Given the description of an element on the screen output the (x, y) to click on. 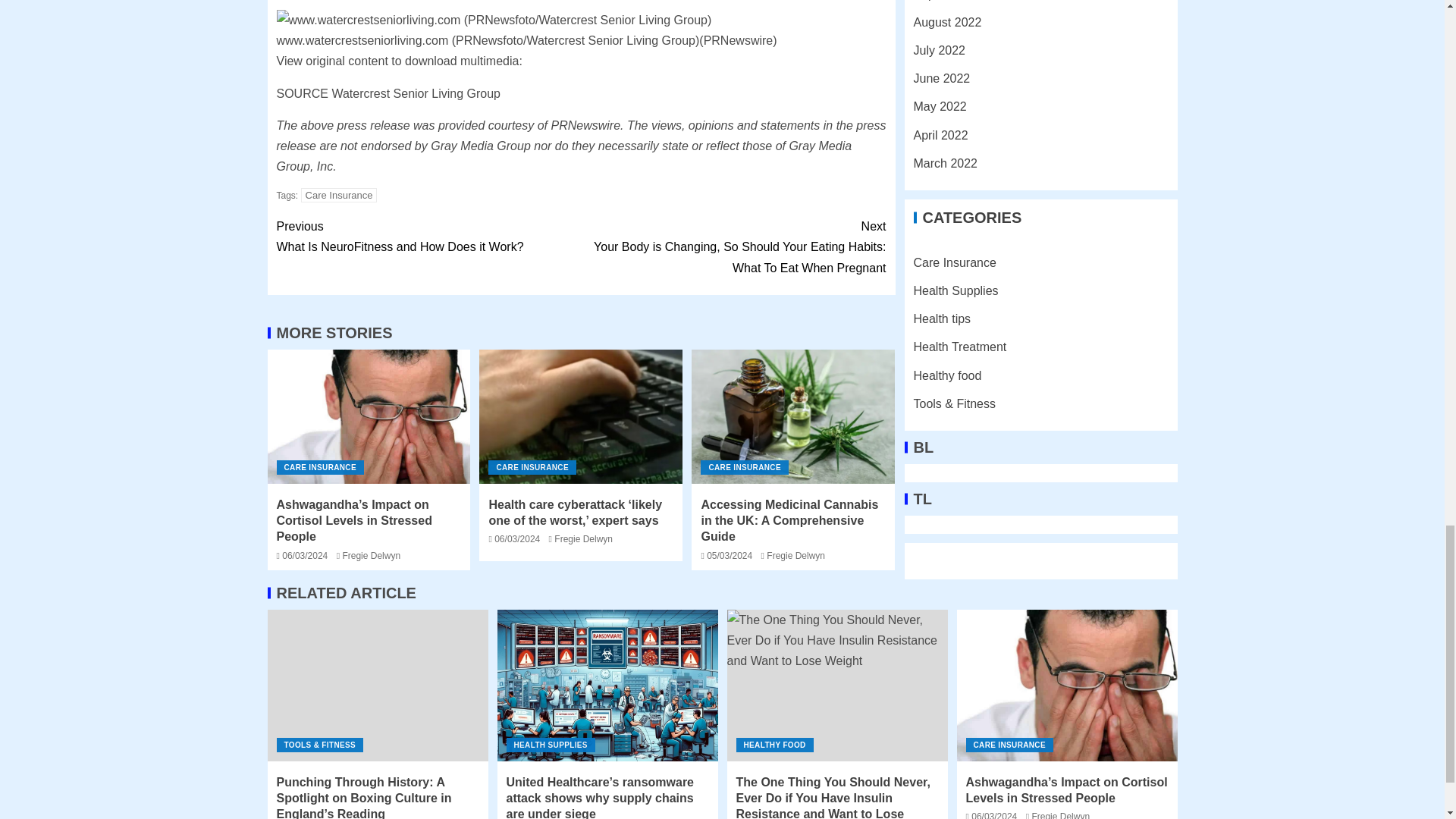
CARE INSURANCE (319, 467)
Care Insurance (339, 195)
